Given the description of an element on the screen output the (x, y) to click on. 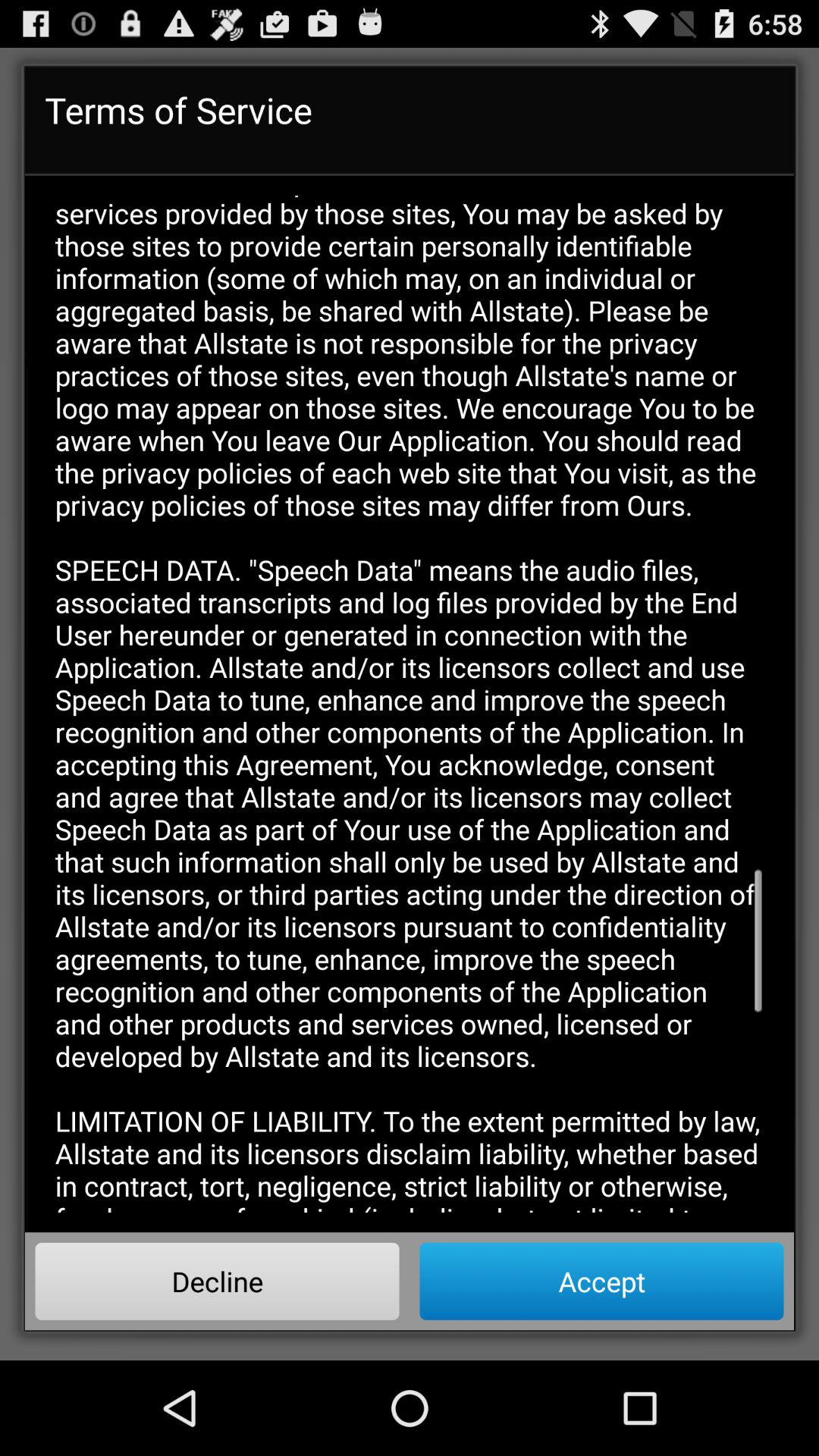
tap icon next to the accept button (217, 1281)
